Given the description of an element on the screen output the (x, y) to click on. 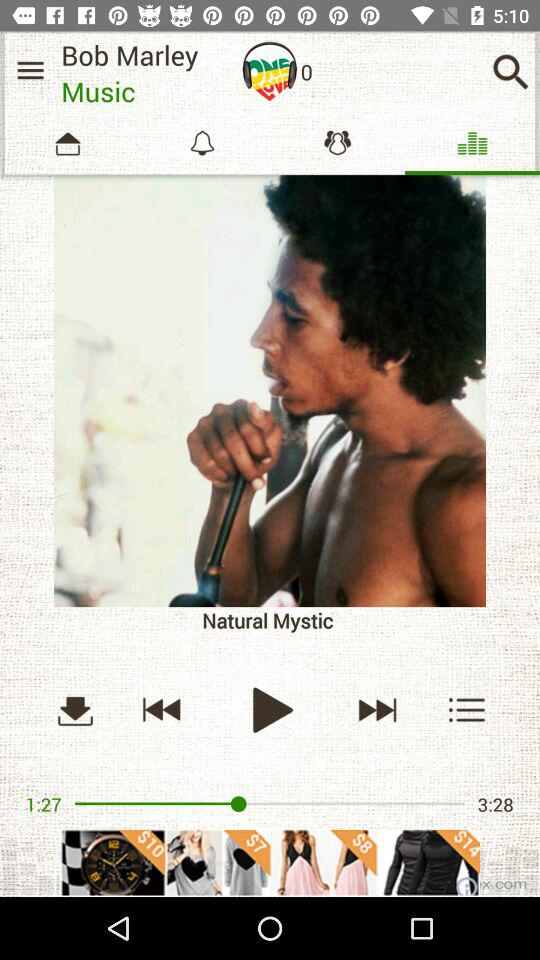
toggle options (467, 709)
